Given the description of an element on the screen output the (x, y) to click on. 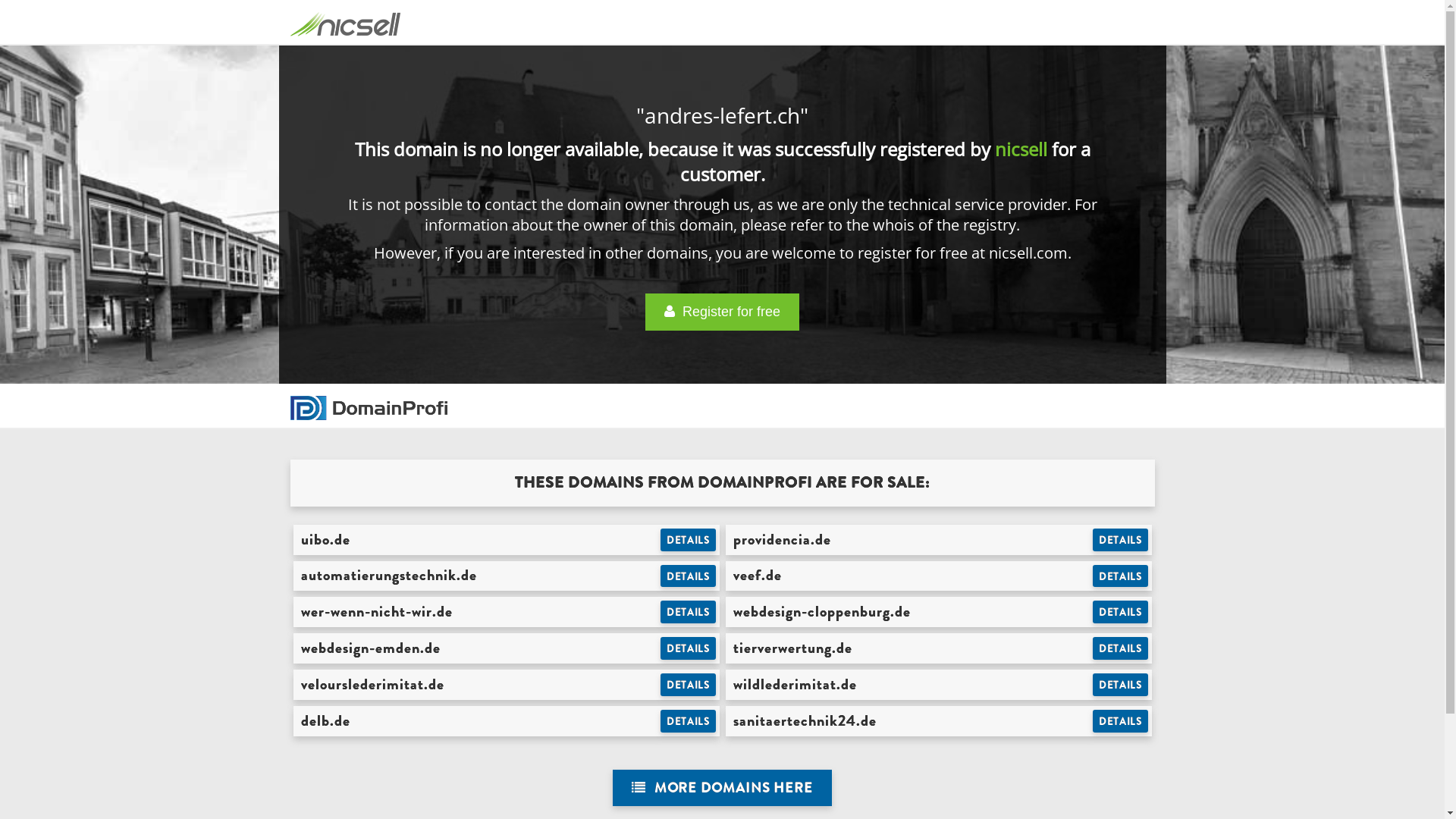
DETAILS Element type: text (687, 575)
DETAILS Element type: text (1120, 720)
DETAILS Element type: text (1120, 684)
DETAILS Element type: text (687, 648)
DETAILS Element type: text (687, 611)
DETAILS Element type: text (1120, 539)
DETAILS Element type: text (1120, 575)
DETAILS Element type: text (1120, 648)
DETAILS Element type: text (687, 720)
  MORE DOMAINS HERE Element type: text (721, 787)
DETAILS Element type: text (1120, 611)
  Register for free Element type: text (722, 311)
DETAILS Element type: text (687, 539)
DETAILS Element type: text (687, 684)
nicsell Element type: text (1020, 148)
